Given the description of an element on the screen output the (x, y) to click on. 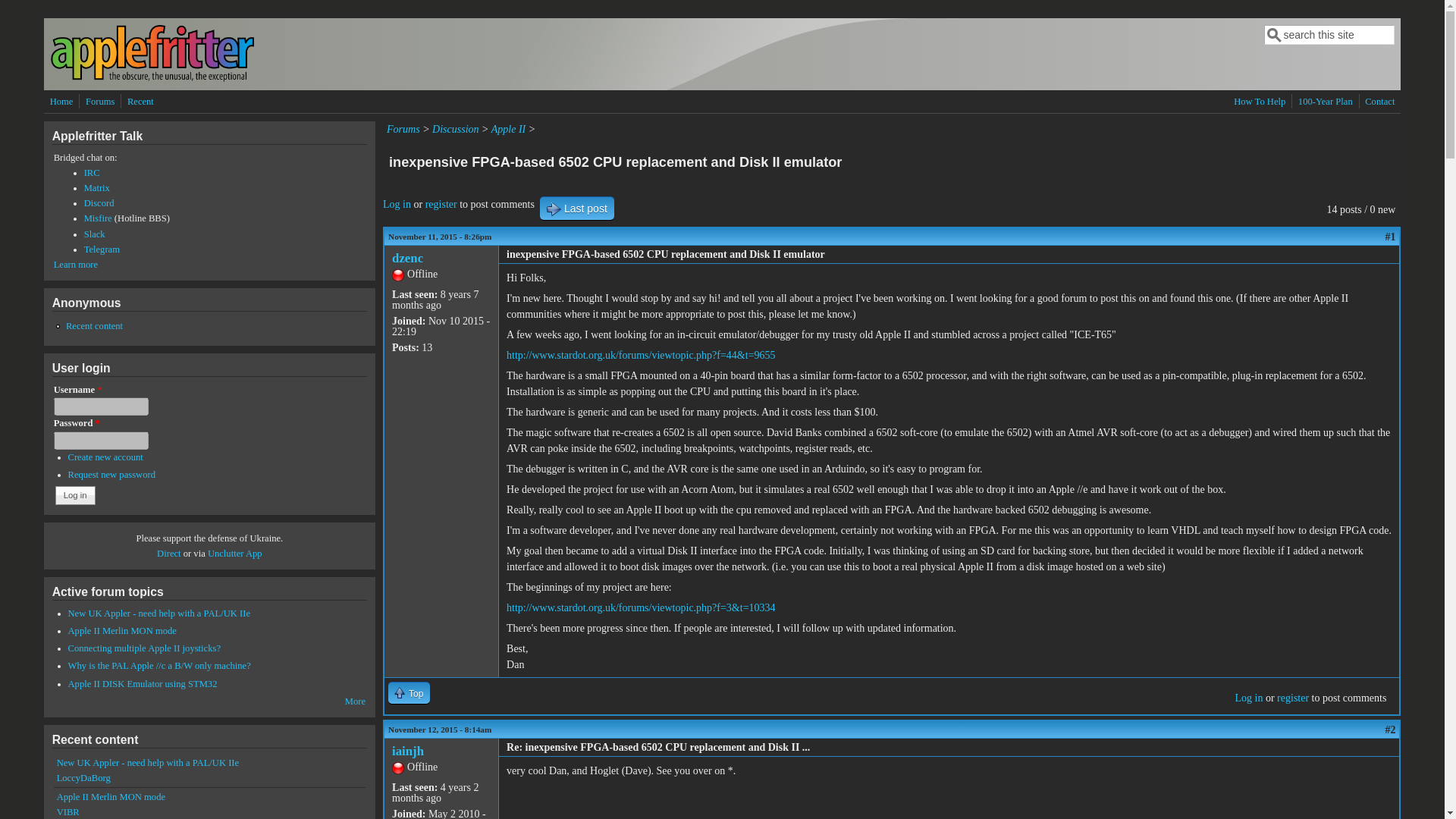
Log in (1248, 697)
Top (408, 692)
Discussion (455, 129)
100-Year Plan (1325, 101)
Forums (403, 129)
Forums (99, 101)
View user profile. (407, 257)
iainjh (407, 750)
dzenc (407, 257)
register (1292, 697)
Home (151, 79)
Recent (140, 101)
Apple II (508, 129)
Jump to top of page (408, 692)
Home (61, 101)
